Given the description of an element on the screen output the (x, y) to click on. 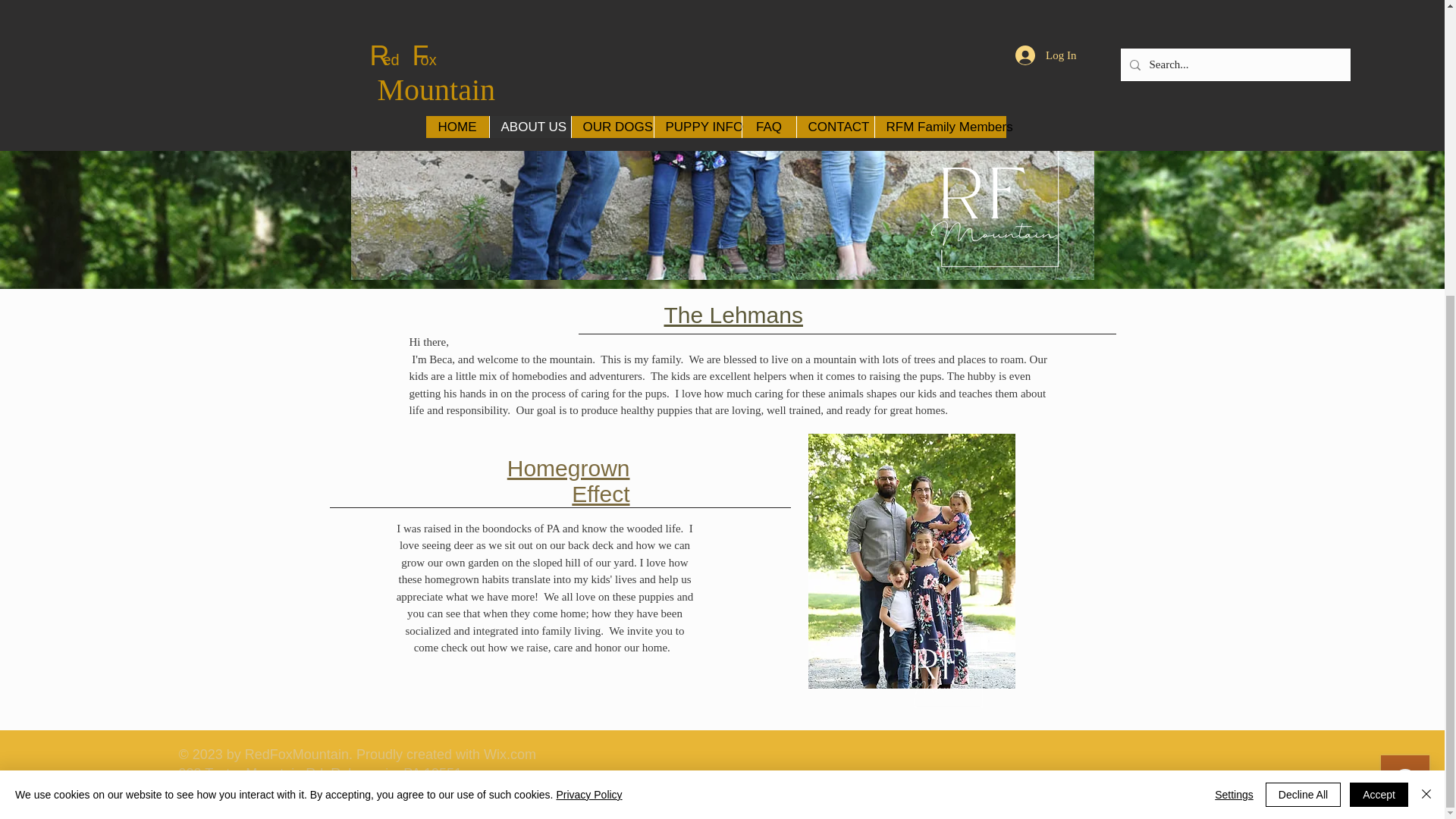
Decline All (1302, 339)
Accept (1378, 339)
The Lehmans (733, 314)
Privacy Policy (588, 339)
Homegrown Effect (568, 480)
